Given the description of an element on the screen output the (x, y) to click on. 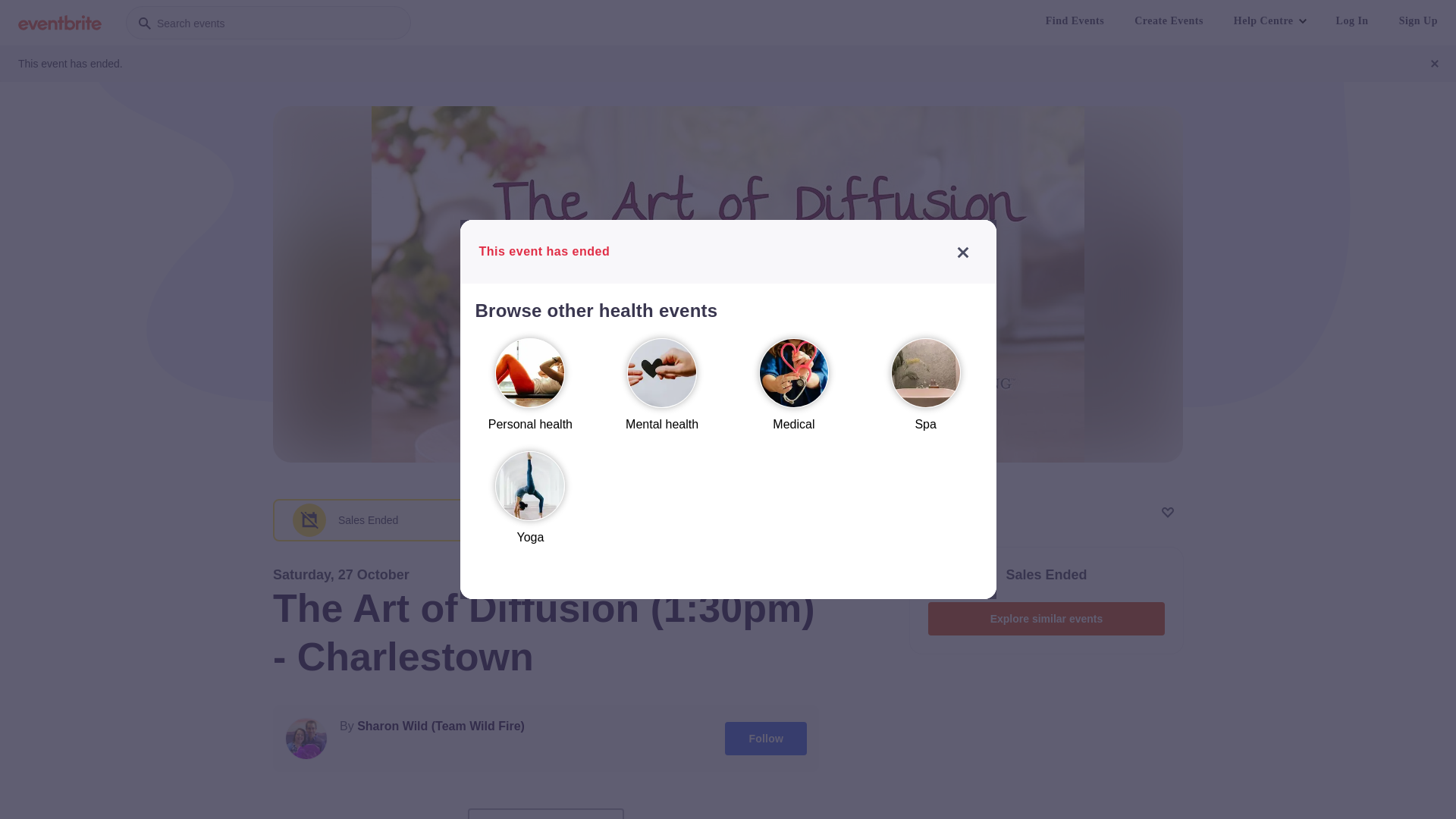
Medical Element type: text (793, 391)
Personal health Element type: text (530, 391)
Explore similar events Element type: text (1046, 618)
Spa Element type: text (925, 391)
Yoga Element type: text (530, 504)
Log In Element type: text (1352, 21)
Search events Element type: text (268, 22)
Eventbrite Element type: hover (59, 22)
Mental health Element type: text (661, 391)
Find Events Element type: text (1074, 21)
Follow Element type: text (765, 738)
Create Events Element type: text (1168, 21)
Sign Up Element type: text (1417, 21)
